Given the description of an element on the screen output the (x, y) to click on. 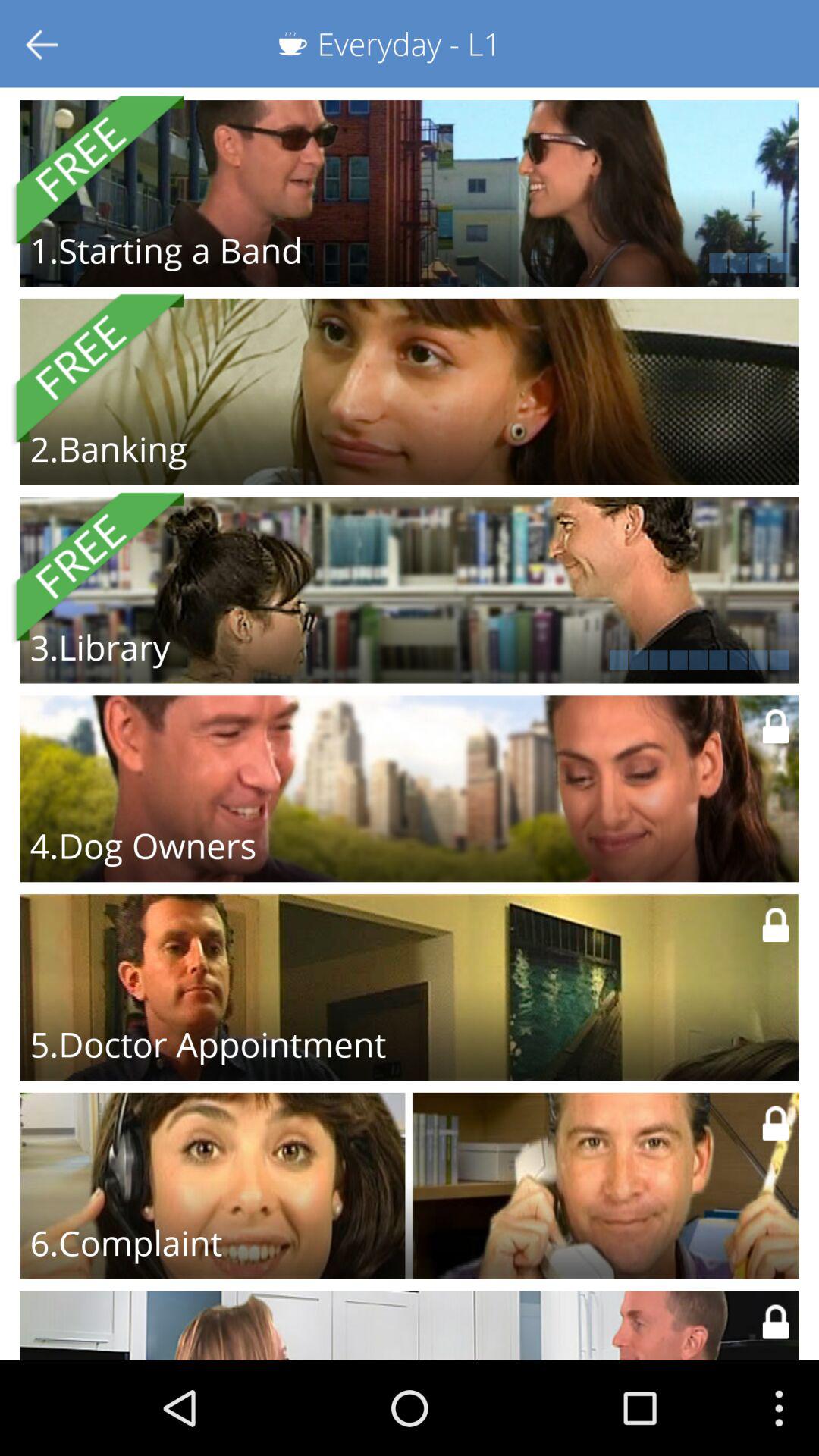
click 6.complaint icon (126, 1242)
